Given the description of an element on the screen output the (x, y) to click on. 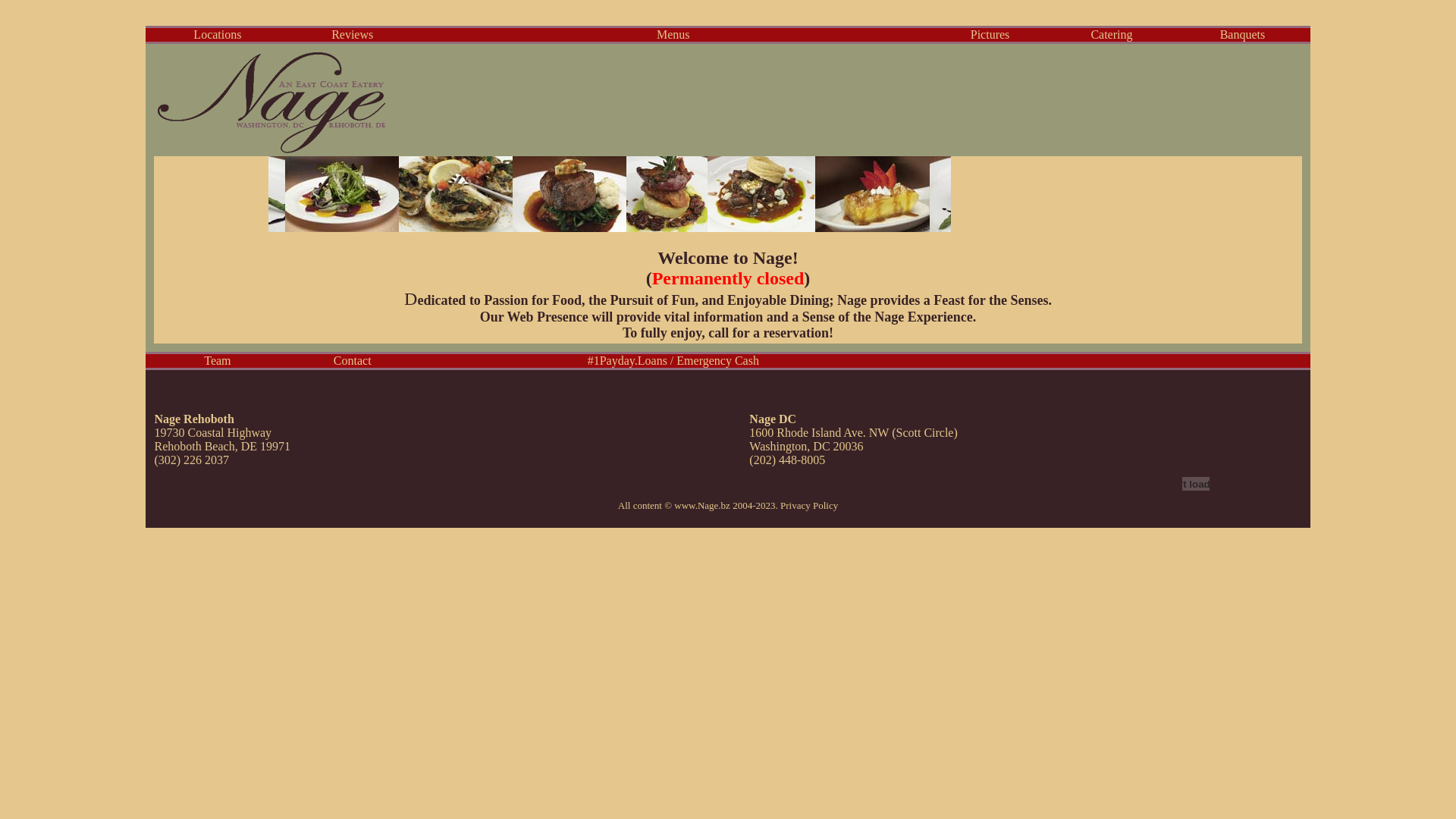
Locations Element type: text (217, 34)
www.Nage.bz Element type: text (702, 505)
Nage Rehoboth Element type: text (193, 418)
Nage DC Element type: text (772, 418)
Menus Element type: text (673, 34)
Contact Element type: text (352, 360)
Catering Element type: text (1111, 34)
Reviews Element type: text (352, 34)
Banquets Element type: text (1242, 34)
Privacy Policy Element type: text (808, 505)
#1Payday.Loans / Emergency Cash Element type: text (673, 360)
Pictures Element type: text (990, 34)
Team Element type: text (216, 360)
